Given the description of an element on the screen output the (x, y) to click on. 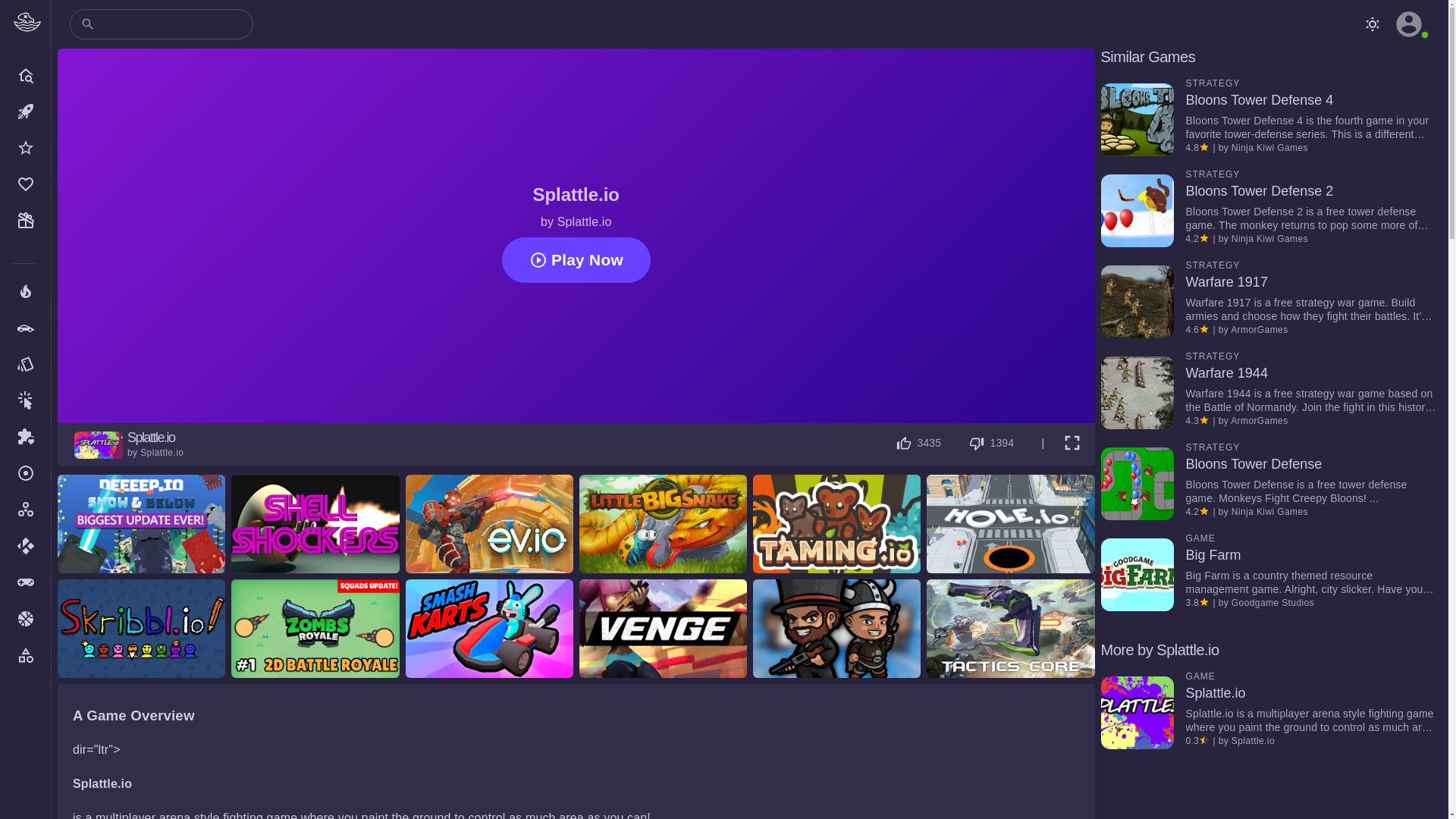
Notification (1371, 24)
